Given the description of an element on the screen output the (x, y) to click on. 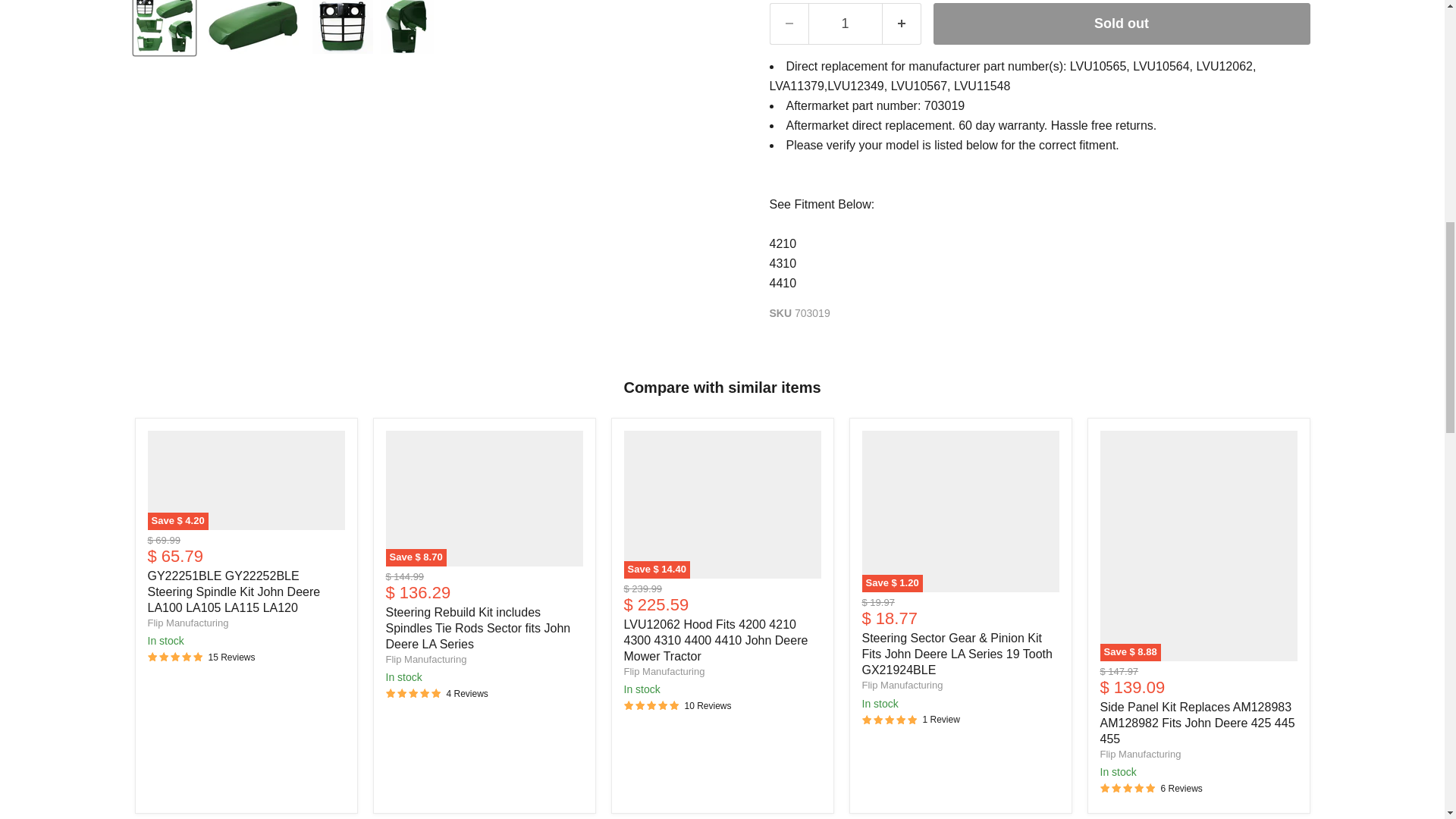
Flip Manufacturing (425, 659)
Flip Manufacturing (663, 671)
Flip Manufacturing (901, 685)
Flip Manufacturing (1139, 754)
1 (845, 24)
Flip Manufacturing (187, 622)
